Given the description of an element on the screen output the (x, y) to click on. 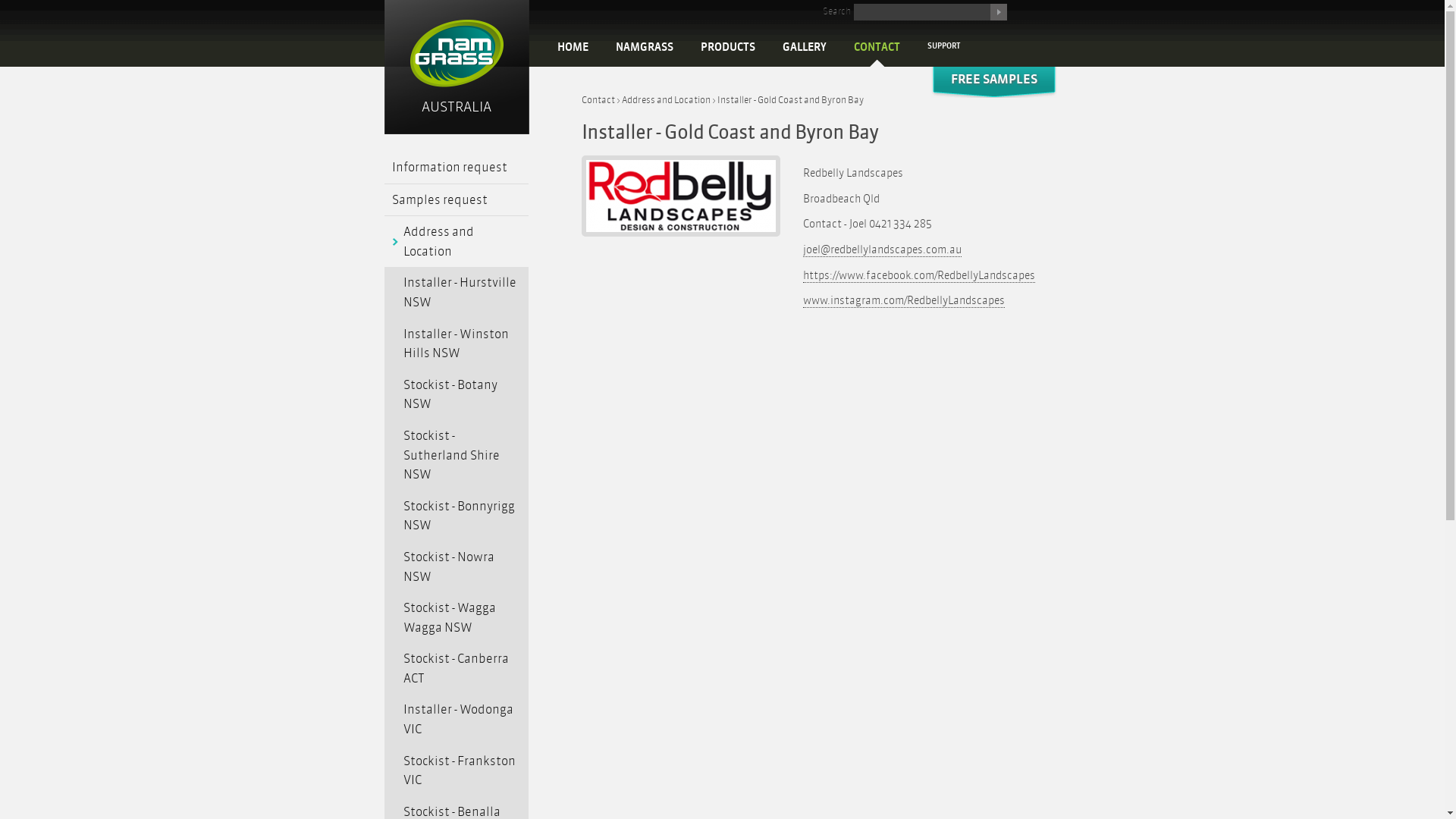
www.instagram.com/RedbellyLandscapes Element type: text (903, 300)
CONTACT Element type: text (876, 47)
Samples request Element type: text (456, 200)
GALLERY Element type: text (804, 47)
PRODUCTS Element type: text (727, 47)
NAMGRASS Element type: text (644, 47)
Stockist - Sutherland Shire NSW Element type: text (456, 455)
Stockist - Wagga Wagga NSW Element type: text (456, 617)
Contact Element type: text (598, 99)
Address and Location Element type: text (456, 241)
joel@redbellylandscapes.com.au Element type: text (882, 250)
Stockist - Nowra NSW Element type: text (456, 566)
Installer - Wodonga VIC Element type: text (456, 718)
AUSTRALIA Element type: text (456, 68)
SUPPORT Element type: text (943, 46)
Installer - Gold Coast and Byron Bay Element type: text (790, 99)
Installer - Winston Hills NSW Element type: text (456, 343)
Stockist - Botany NSW Element type: text (456, 394)
https://www.facebook.com/RedbellyLandscapes Element type: text (919, 275)
Stockist - Canberra ACT Element type: text (456, 668)
Search Element type: text (998, 11)
Stockist - Bonnyrigg NSW Element type: text (456, 515)
Installer - Hurstville NSW Element type: text (456, 291)
FREE SAMPLES Element type: text (994, 87)
HOME Element type: text (572, 47)
Information request Element type: text (456, 167)
Address and Location Element type: text (665, 99)
Enter the terms you wish to search for. Element type: hover (921, 11)
Stockist - Frankston VIC Element type: text (456, 770)
